Given the description of an element on the screen output the (x, y) to click on. 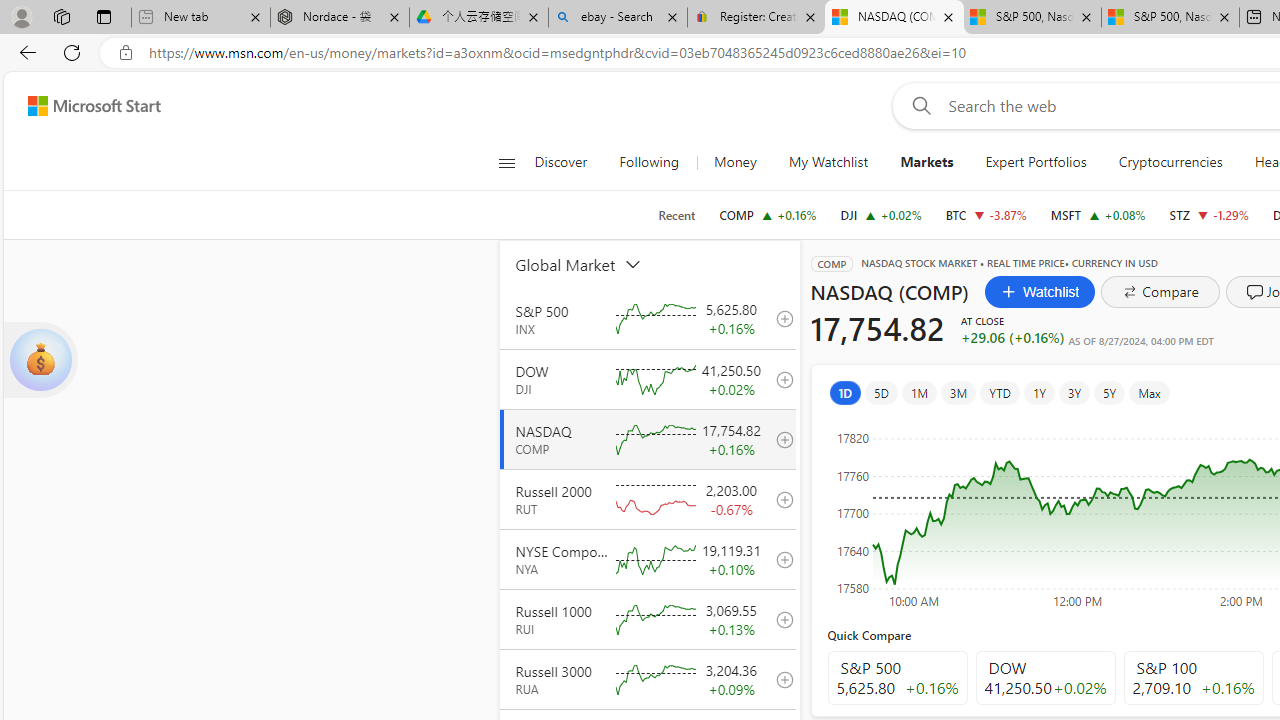
5D (881, 392)
YTD (1000, 392)
Cryptocurrencies (1169, 162)
show card (40, 359)
Expert Portfolios (1035, 162)
Skip to content (86, 105)
MSFT MICROSOFT CORPORATION increase 413.84 +0.35 +0.08% (1098, 214)
3M (958, 392)
1D (845, 392)
5Y (1110, 392)
